Given the description of an element on the screen output the (x, y) to click on. 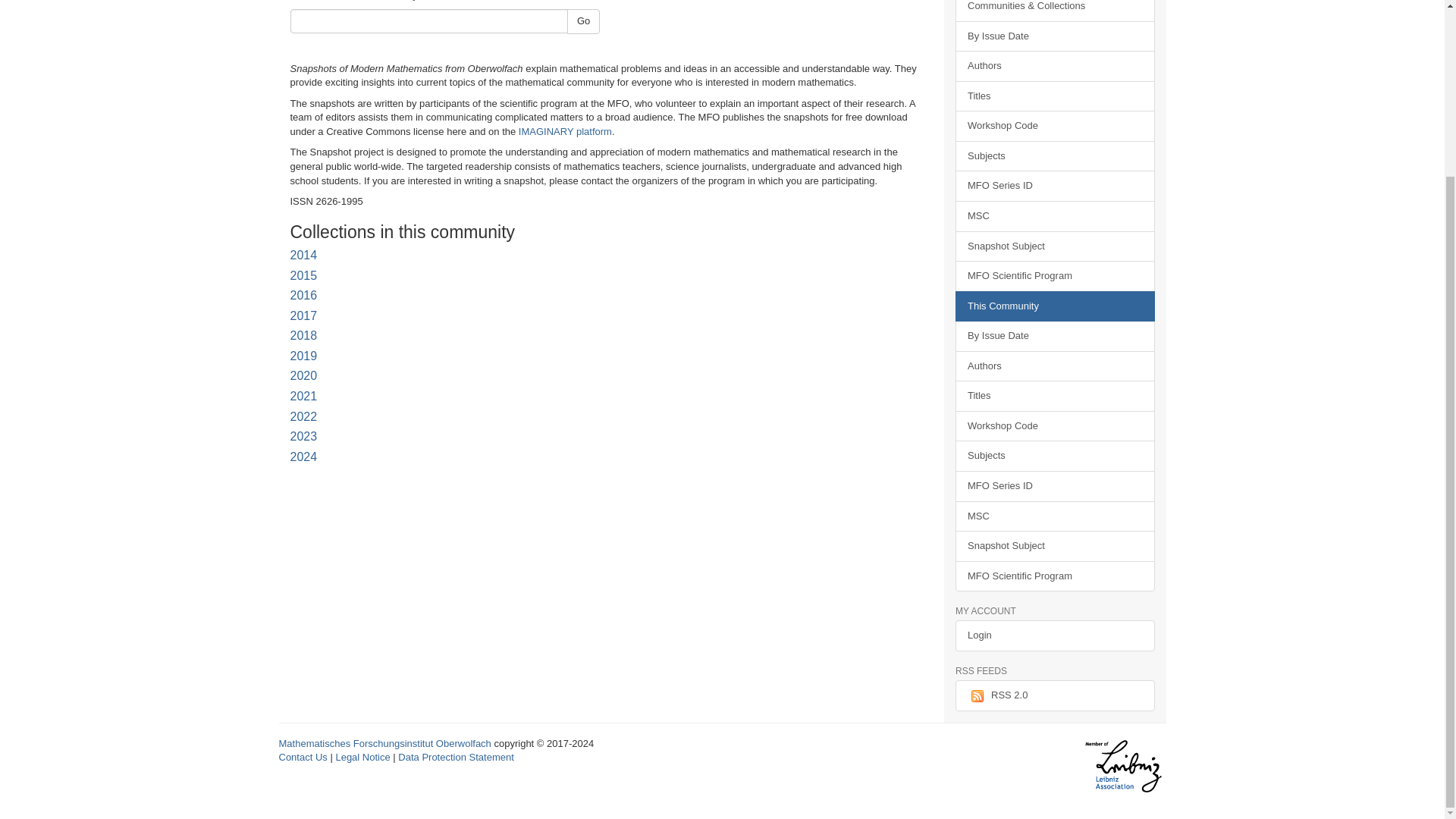
2020 (303, 375)
Leibniz Gemeinschaft (1123, 767)
2024 (303, 456)
2018 (303, 335)
IMAGINARY platform (564, 131)
2015 (303, 275)
2014 (303, 254)
Go (583, 21)
2017 (303, 315)
2019 (303, 355)
2016 (303, 295)
2022 (303, 416)
2023 (303, 436)
2021 (303, 395)
